Given the description of an element on the screen output the (x, y) to click on. 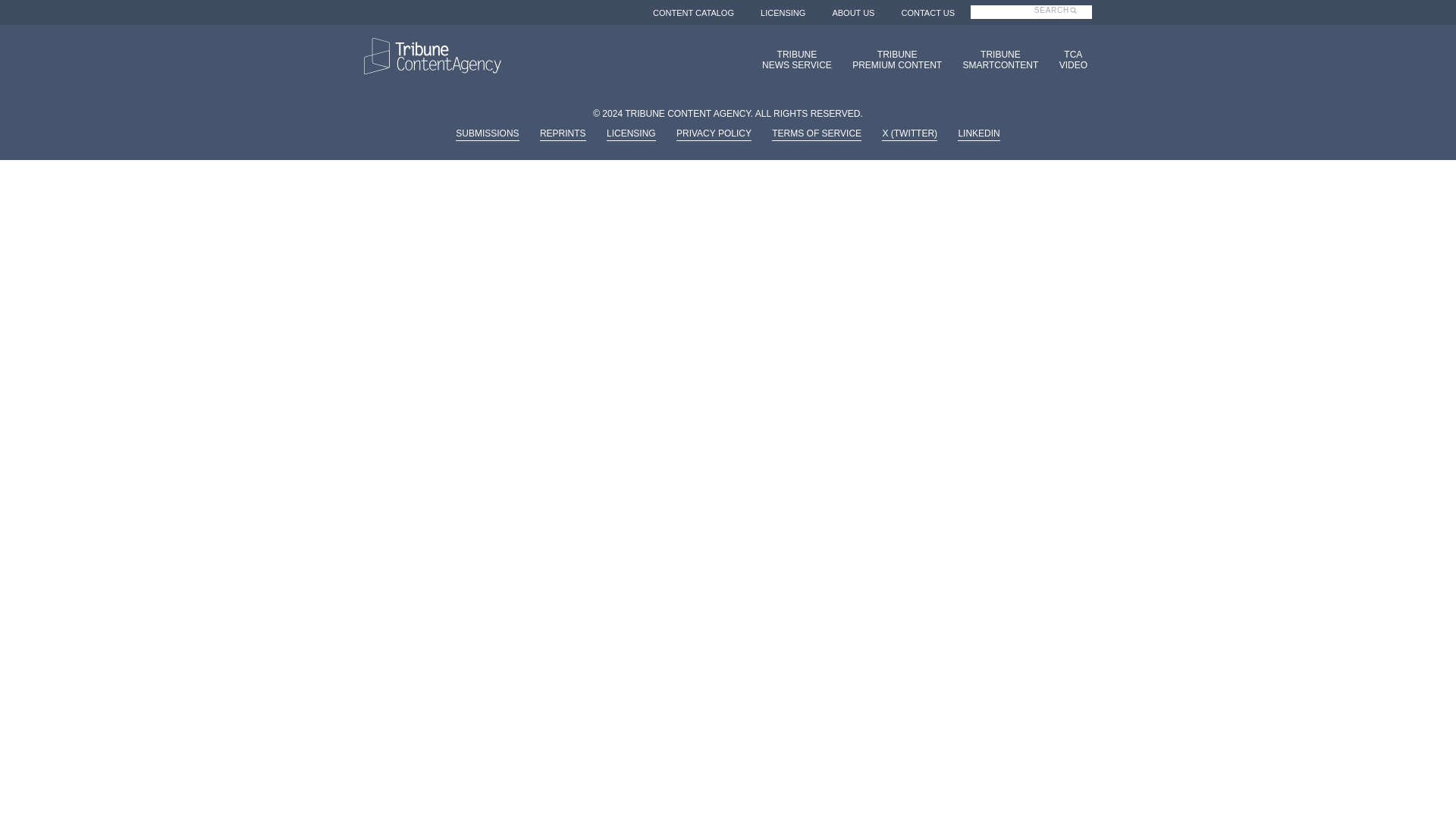
Search (996, 59)
Search (1068, 59)
CONTACT US (1066, 18)
LICENSING (1066, 18)
ABOUT US (928, 12)
CONTENT CATALOG (892, 59)
